Given the description of an element on the screen output the (x, y) to click on. 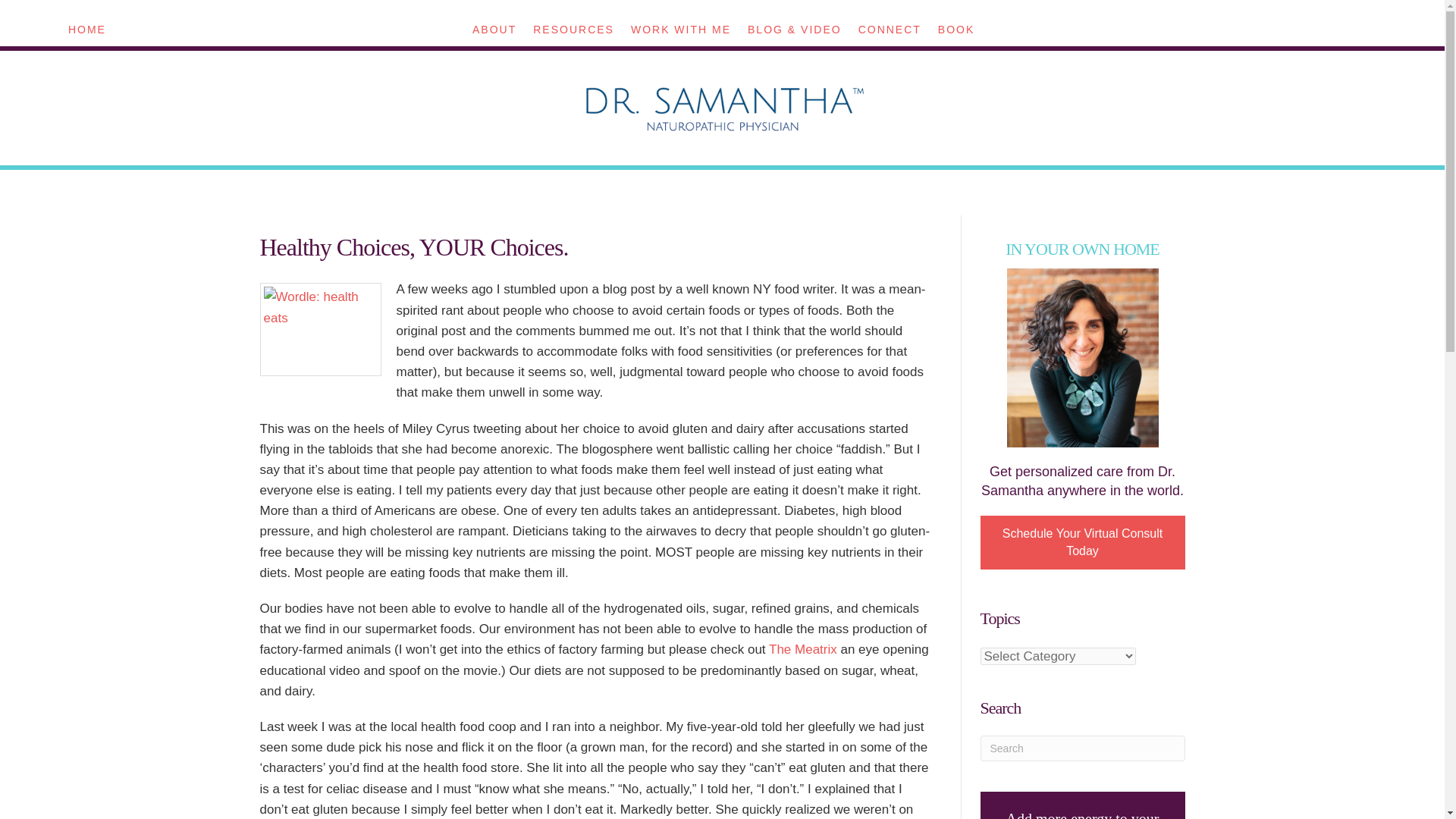
RESOURCES (573, 29)
DrSamantha.com food words health (319, 328)
WORK WITH ME (680, 29)
ABOUT (494, 29)
The Meatrix (802, 649)
Type and press Enter to search. (1082, 748)
HOME (87, 29)
BOOK (955, 29)
CONNECT (889, 29)
Schedule Your Virtual Consult Today (1082, 542)
DrSamantha.com no factory farming (802, 649)
DrSam-logo (721, 107)
